Given the description of an element on the screen output the (x, y) to click on. 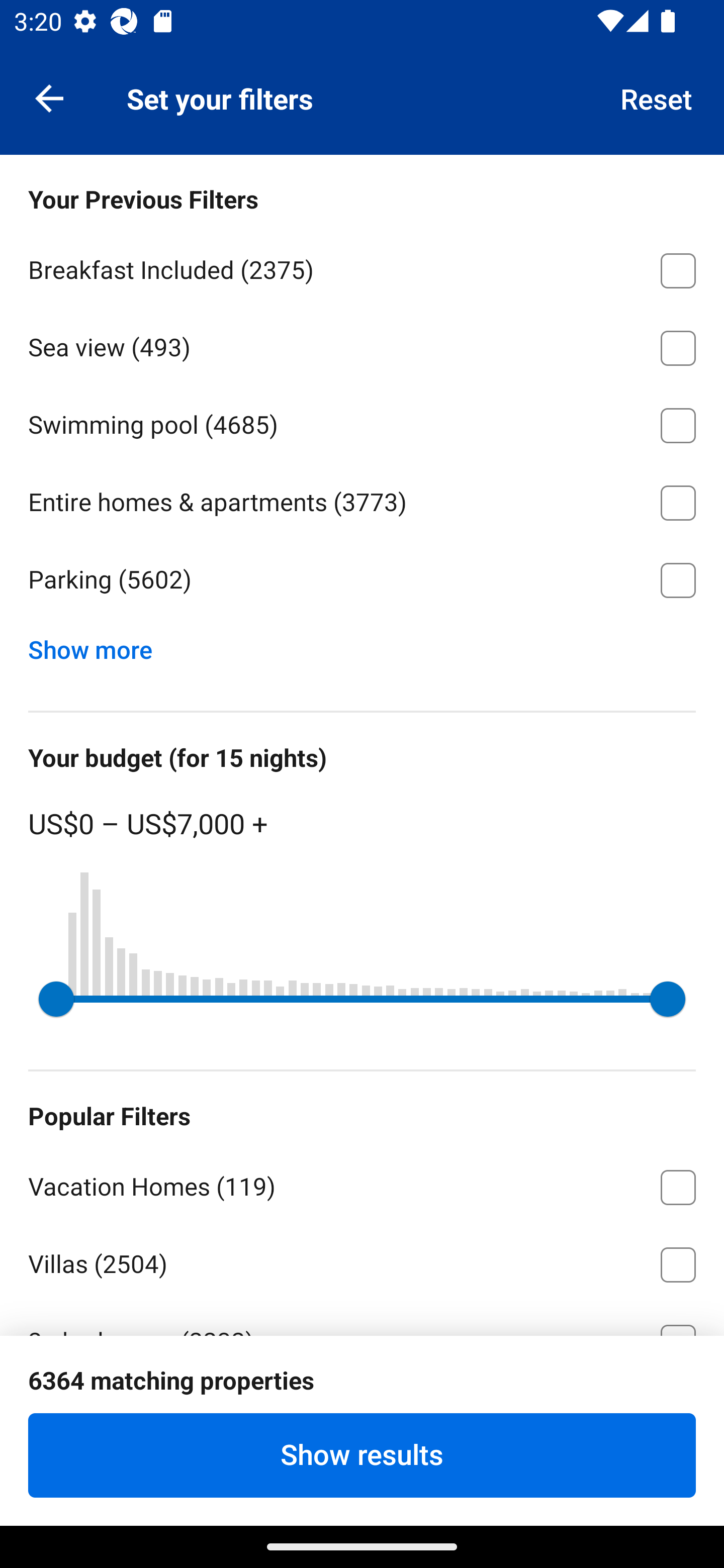
Navigate up (49, 97)
Reset (656, 97)
Breakfast Included ⁦(2375) (361, 266)
Sea view ⁦(493) (361, 344)
Swimming pool ⁦(4685) (361, 422)
Entire homes & apartments ⁦(3773) (361, 498)
Parking ⁦(5602) (361, 579)
Show more (97, 645)
0.0 Range start,US$0 7000.0 Range end,US$7,000 + (361, 998)
Vacation Homes ⁦(119) (361, 1183)
Villas ⁦(2504) (361, 1261)
Show results (361, 1454)
